Given the description of an element on the screen output the (x, y) to click on. 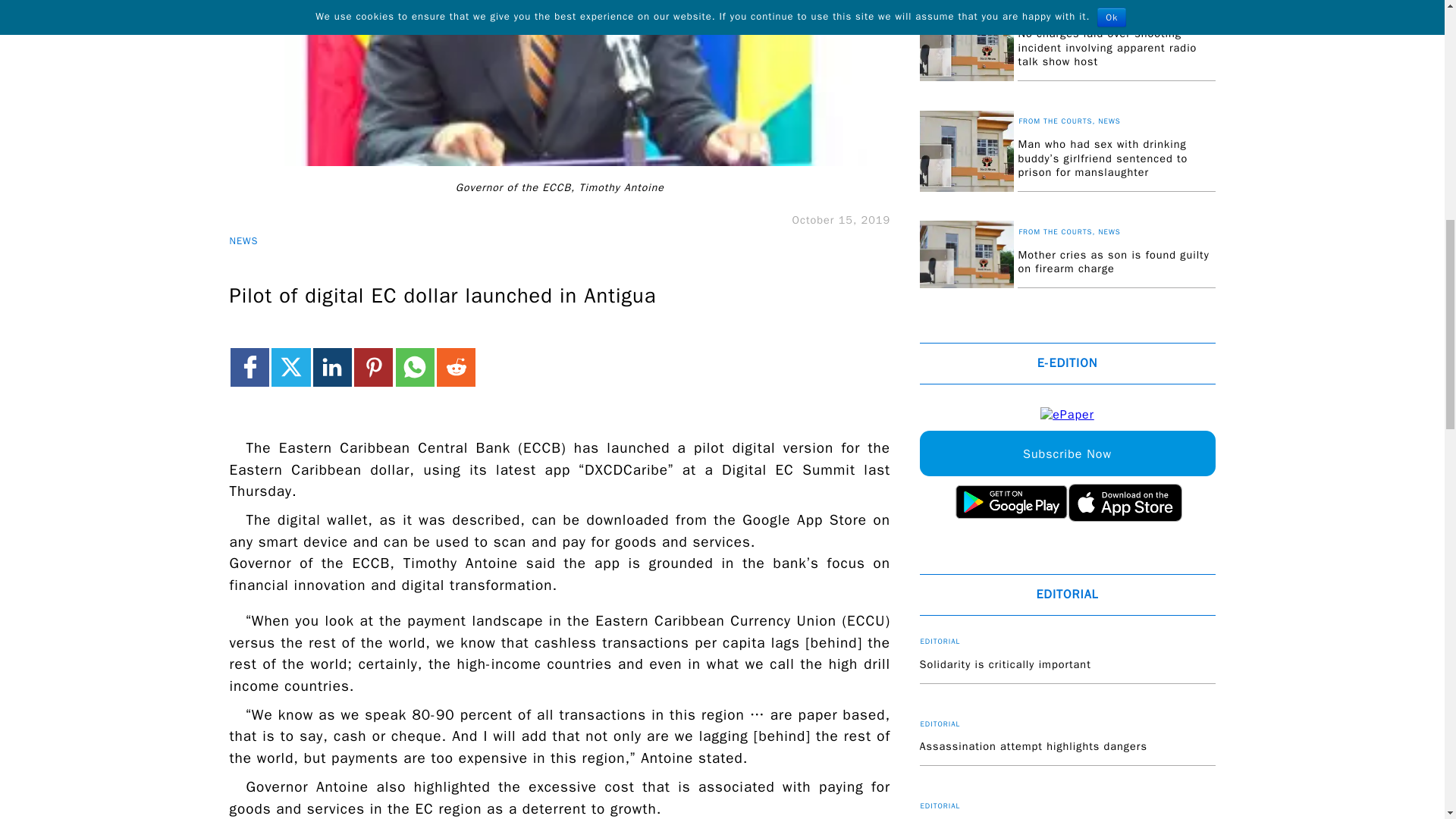
ePaper (1067, 415)
